Given the description of an element on the screen output the (x, y) to click on. 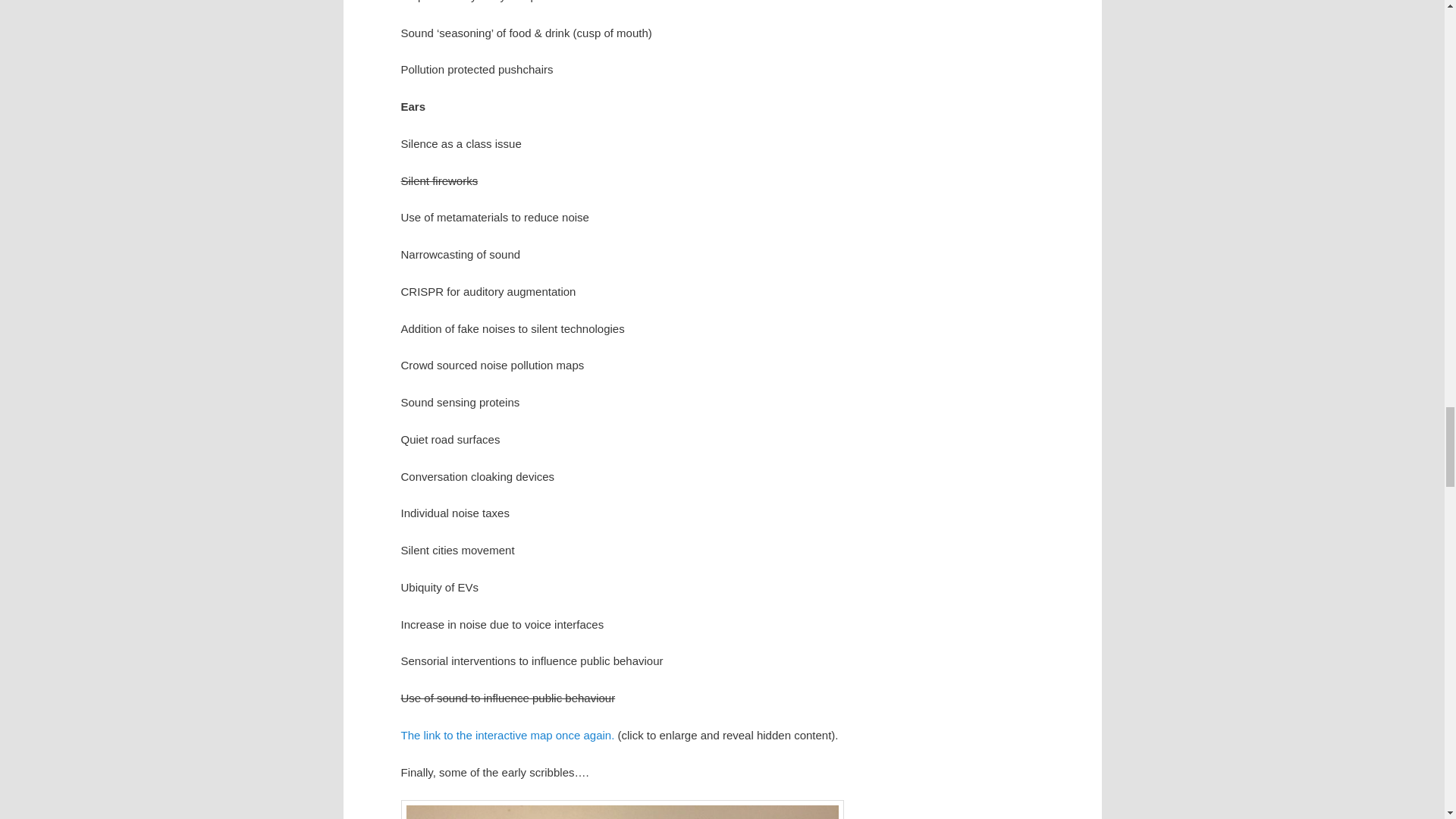
The link to the interactive map once again. (507, 735)
